Given the description of an element on the screen output the (x, y) to click on. 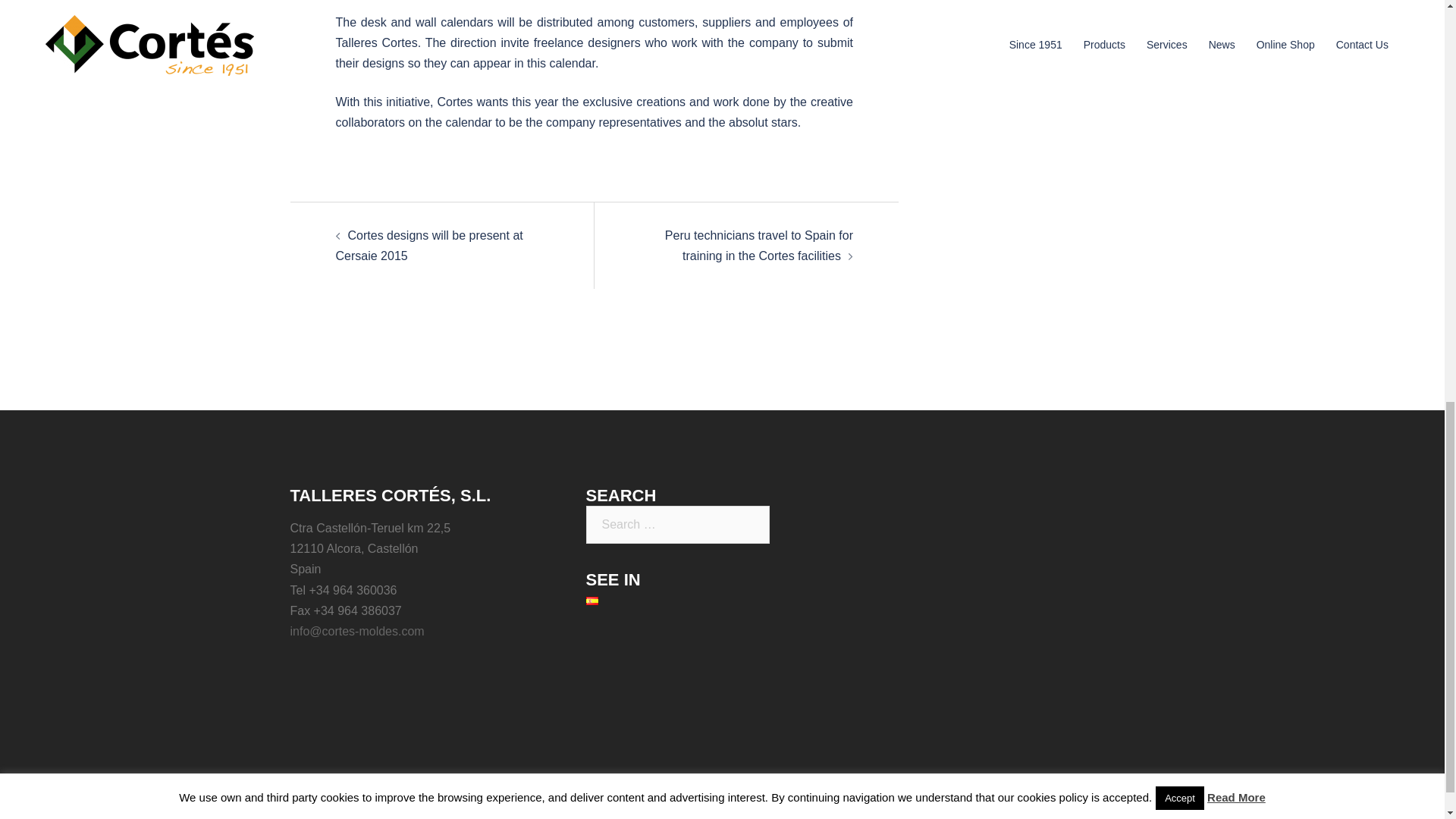
Cortes designs will be present at Cersaie 2015 (428, 245)
Sydney (582, 818)
